Given the description of an element on the screen output the (x, y) to click on. 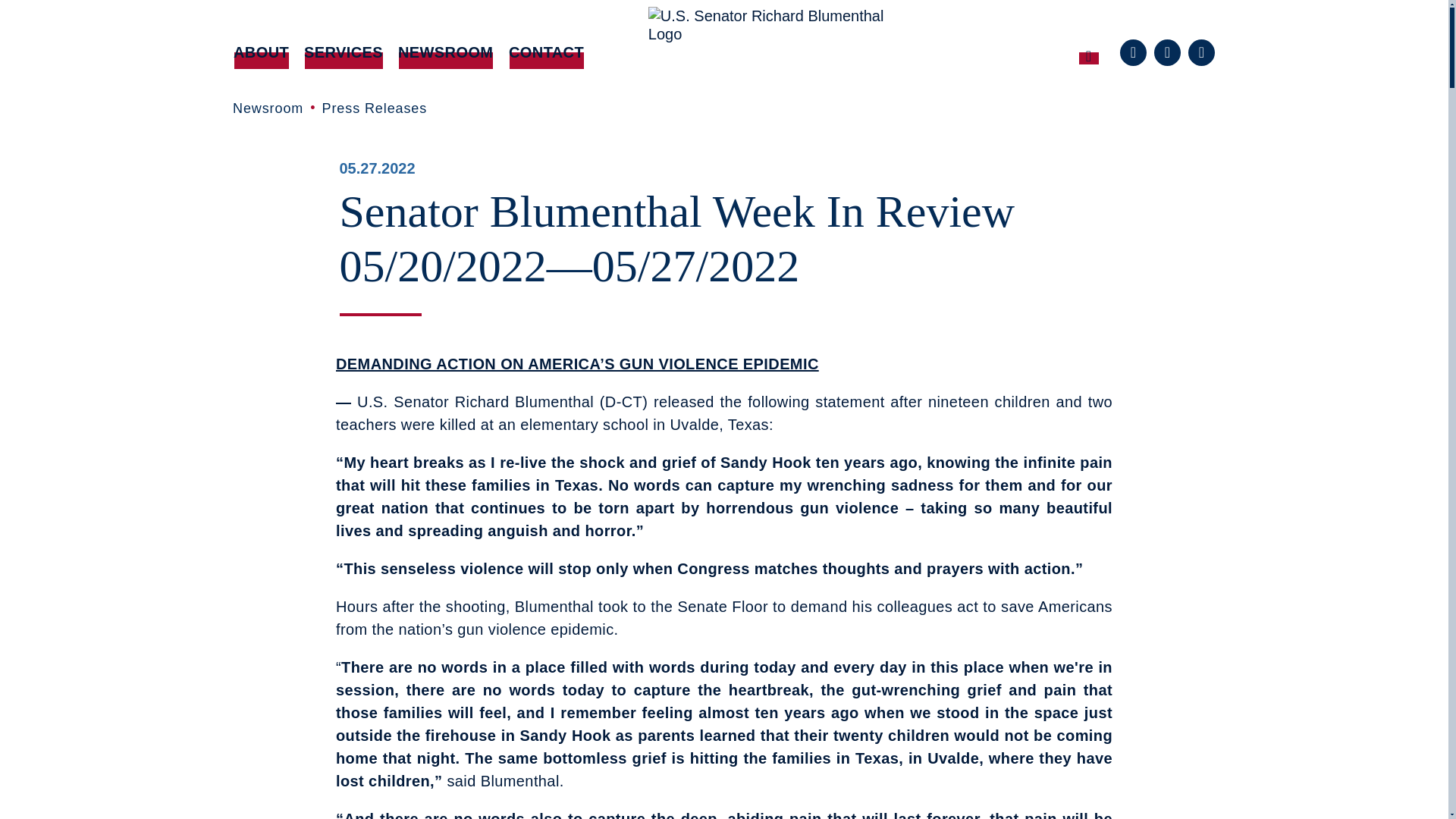
Website Search Open (1088, 52)
Senator Blumenthal Instagram (1201, 52)
CONTACT (545, 52)
WRITE TO SENATOR BLUMENTHAL (622, 91)
Senator Blumenthal Twitter (1167, 52)
BIOGRAPHY (346, 83)
GET ASSISTANCE (622, 83)
FLAG REQUESTS (417, 83)
Newsroom (267, 107)
Press Releases (374, 107)
